Given the description of an element on the screen output the (x, y) to click on. 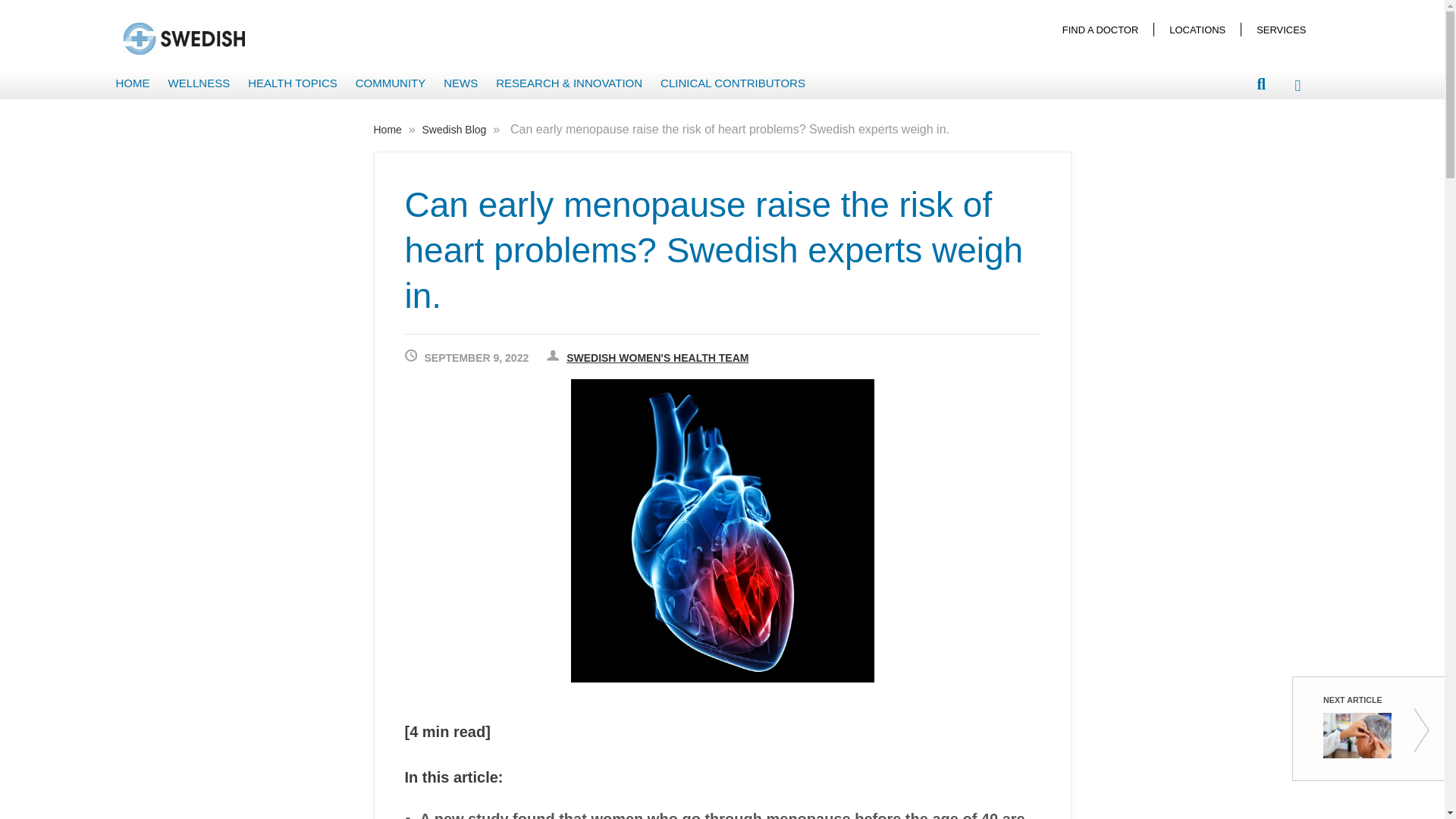
LOCATIONS (1197, 29)
Home (388, 129)
HOME (132, 83)
CLINICAL CONTRIBUTORS (732, 83)
FIND A DOCTOR (1100, 29)
HEALTH TOPICS (293, 83)
WELLNESS (199, 83)
COMMUNITY (390, 83)
SERVICES (1280, 29)
NEWS (460, 83)
